Given the description of an element on the screen output the (x, y) to click on. 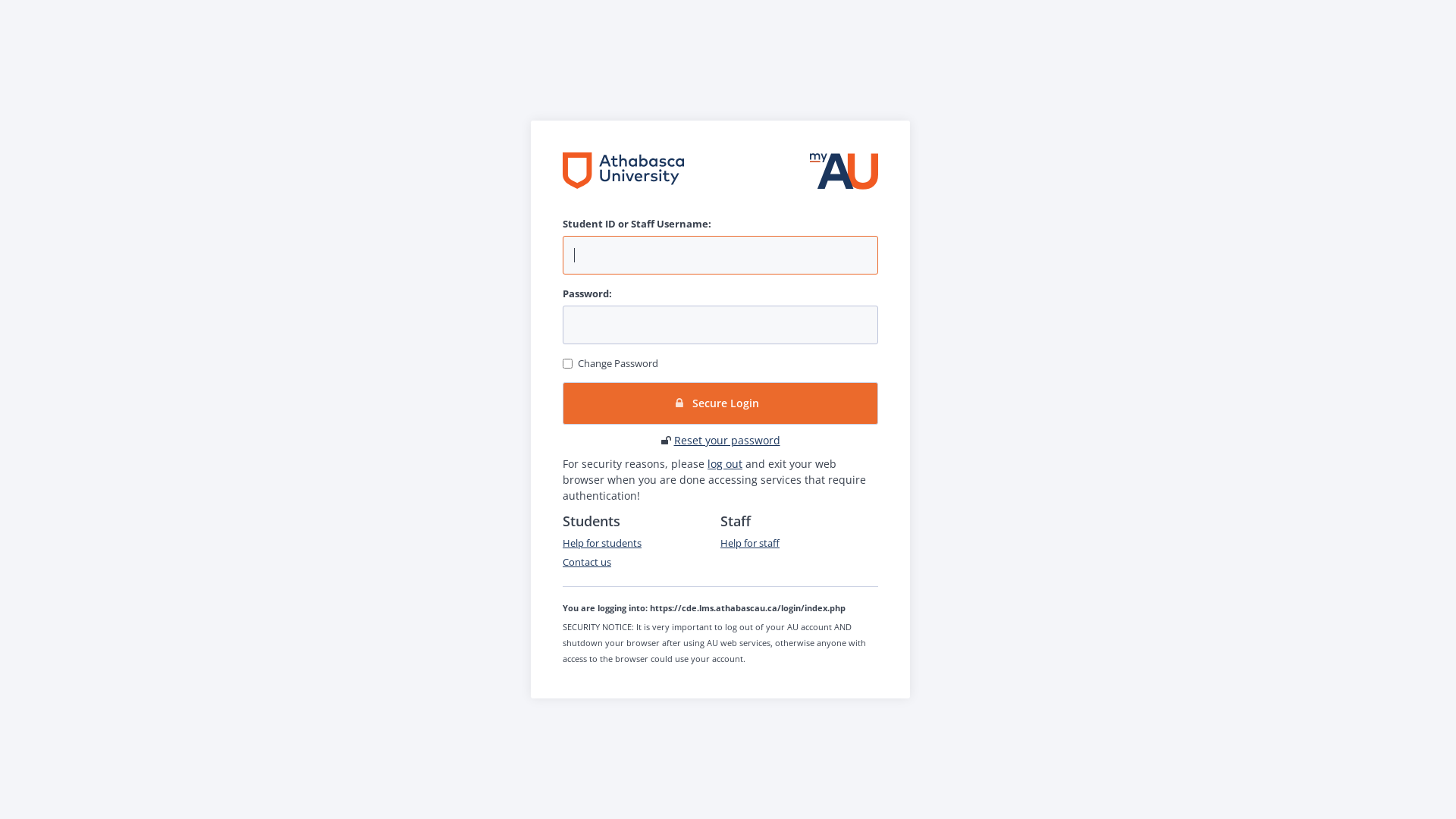
Secure Login Element type: text (720, 403)
Help for staff Element type: text (749, 542)
Reset your password Element type: text (726, 440)
log out Element type: text (724, 463)
Contact us Element type: text (586, 561)
Help for students Element type: text (601, 542)
